Given the description of an element on the screen output the (x, y) to click on. 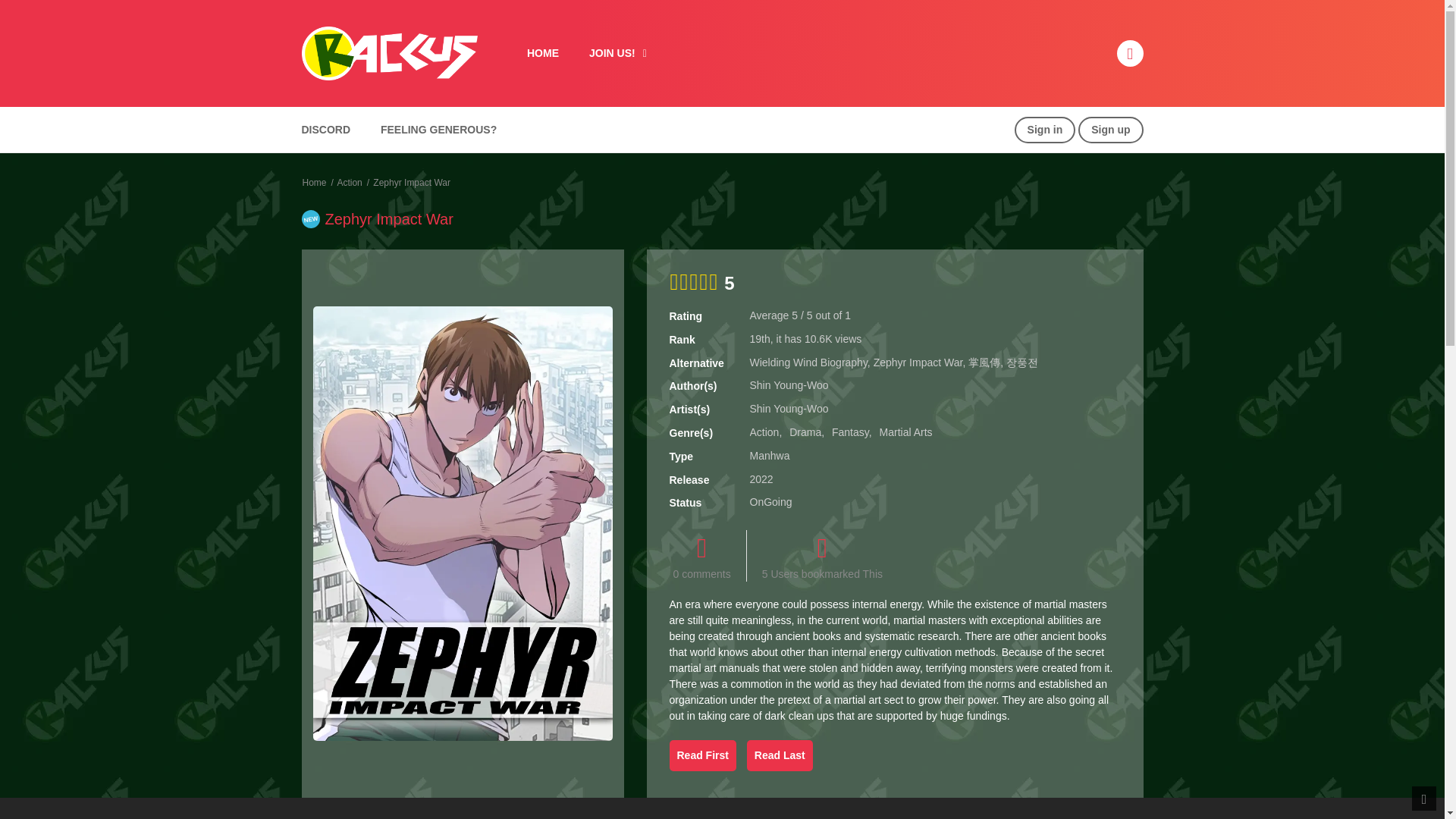
Action (348, 182)
New Rackus! (389, 51)
DISCORD (325, 130)
2022 (761, 479)
Drama (805, 431)
Read First (701, 755)
Action (763, 431)
FEELING GENEROUS? (438, 130)
Read Last (779, 755)
Home (313, 182)
